Given the description of an element on the screen output the (x, y) to click on. 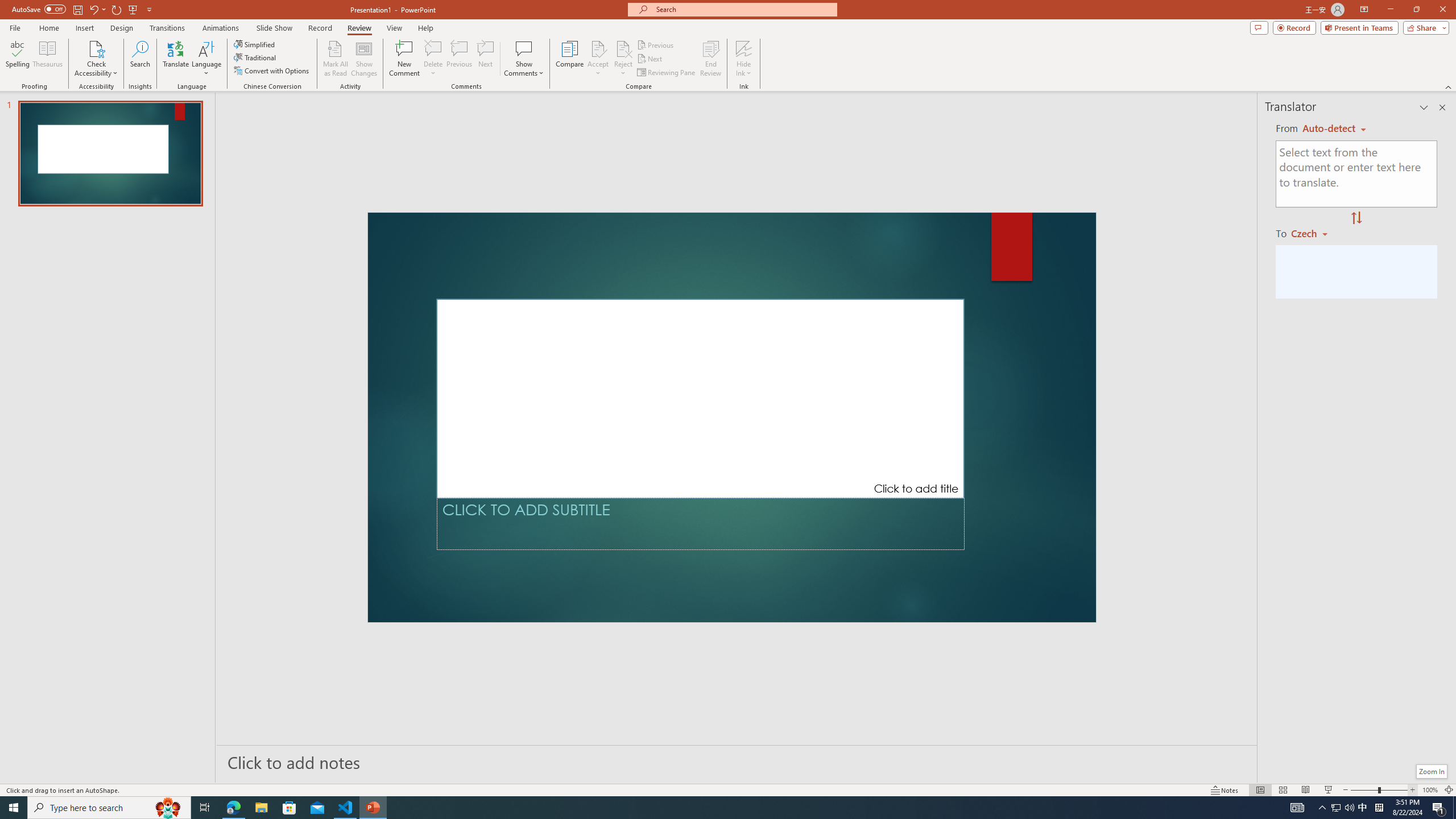
Accept Change (598, 48)
Notes  (1225, 790)
Slide Show (273, 28)
End Review (710, 58)
Task Pane Options (1423, 107)
Reject (622, 58)
Close pane (1441, 107)
Auto-detect (1334, 128)
Compare (569, 58)
Check Accessibility (95, 48)
System (6, 6)
Show Comments (524, 58)
Previous (655, 44)
Hide Ink (743, 58)
Microsoft search (742, 9)
